Given the description of an element on the screen output the (x, y) to click on. 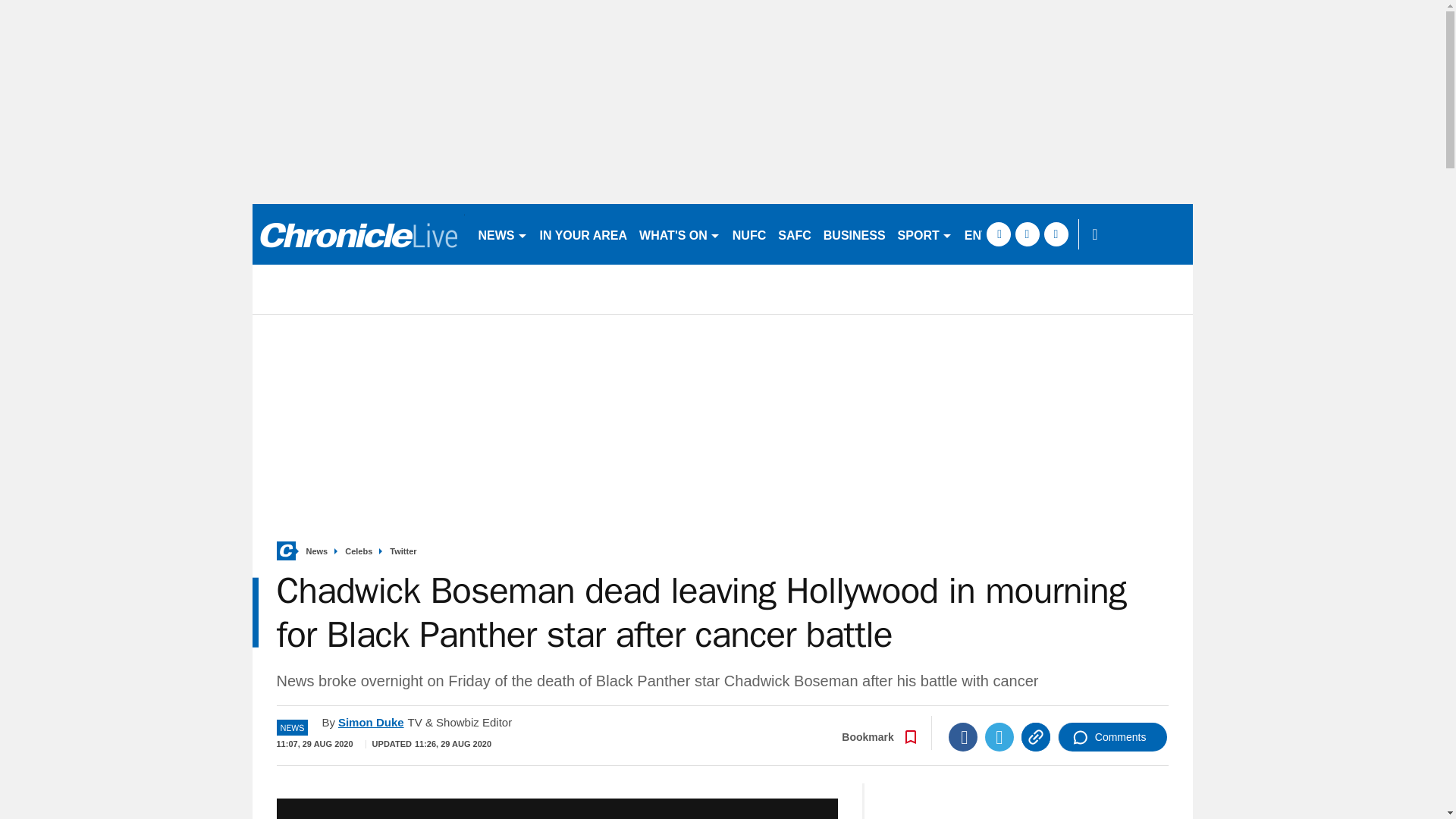
instagram (1055, 233)
WHAT'S ON (679, 233)
twitter (1026, 233)
BUSINESS (853, 233)
NEWS (501, 233)
SPORT (924, 233)
Twitter (999, 736)
facebook (997, 233)
Facebook (962, 736)
nechronicle (357, 233)
Comments (1112, 736)
IN YOUR AREA (583, 233)
